Given the description of an element on the screen output the (x, y) to click on. 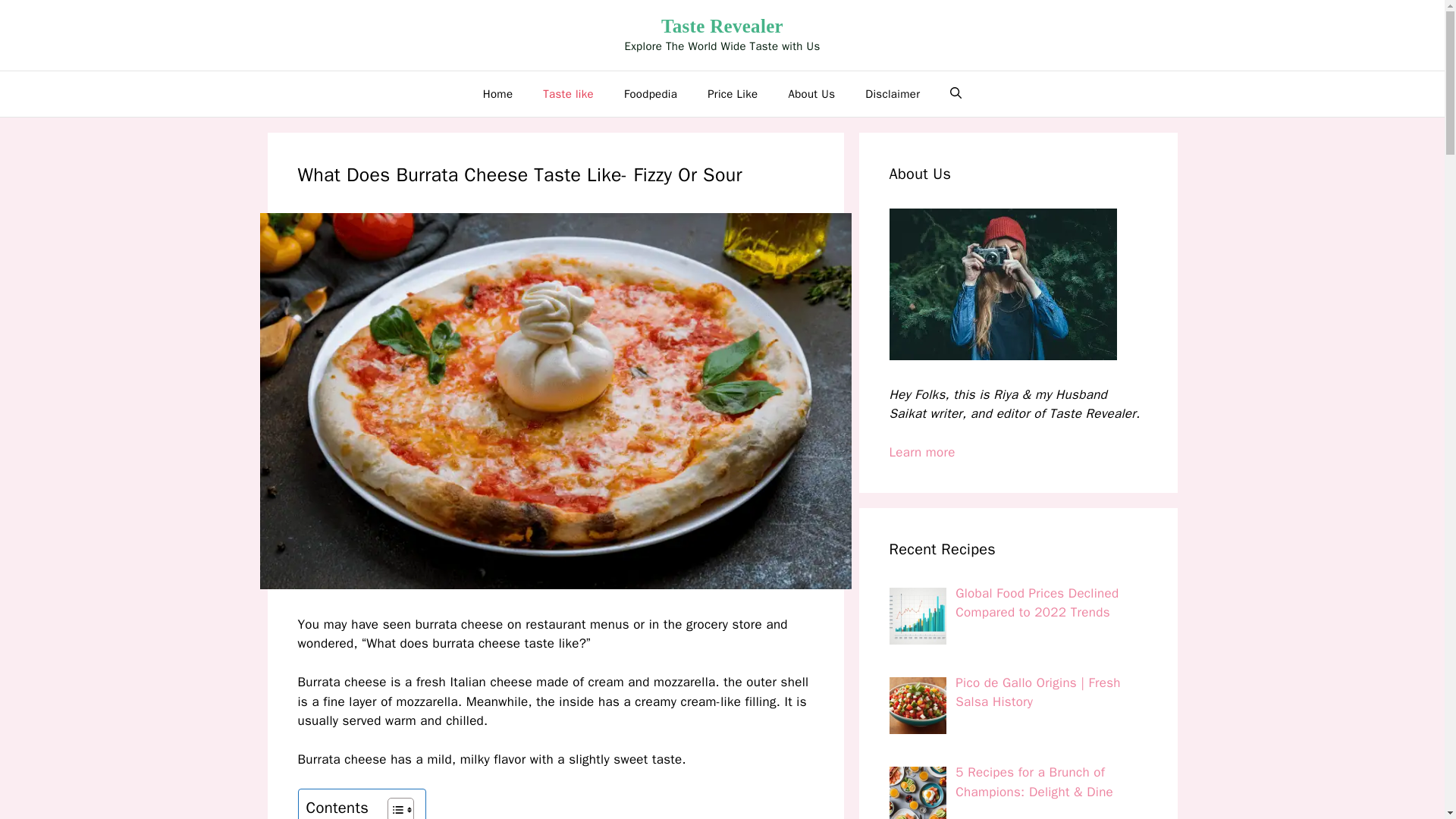
Taste like (567, 94)
About Us (811, 94)
Global Food Prices Declined Compared to 2022 Trends 4 (916, 616)
Home (497, 94)
Taste Revealer (722, 25)
Price Like (733, 94)
Foodpedia (650, 94)
Disclaimer (892, 94)
Learn more (921, 452)
Global Food Prices Declined Compared to 2022 Trends (1036, 602)
